Given the description of an element on the screen output the (x, y) to click on. 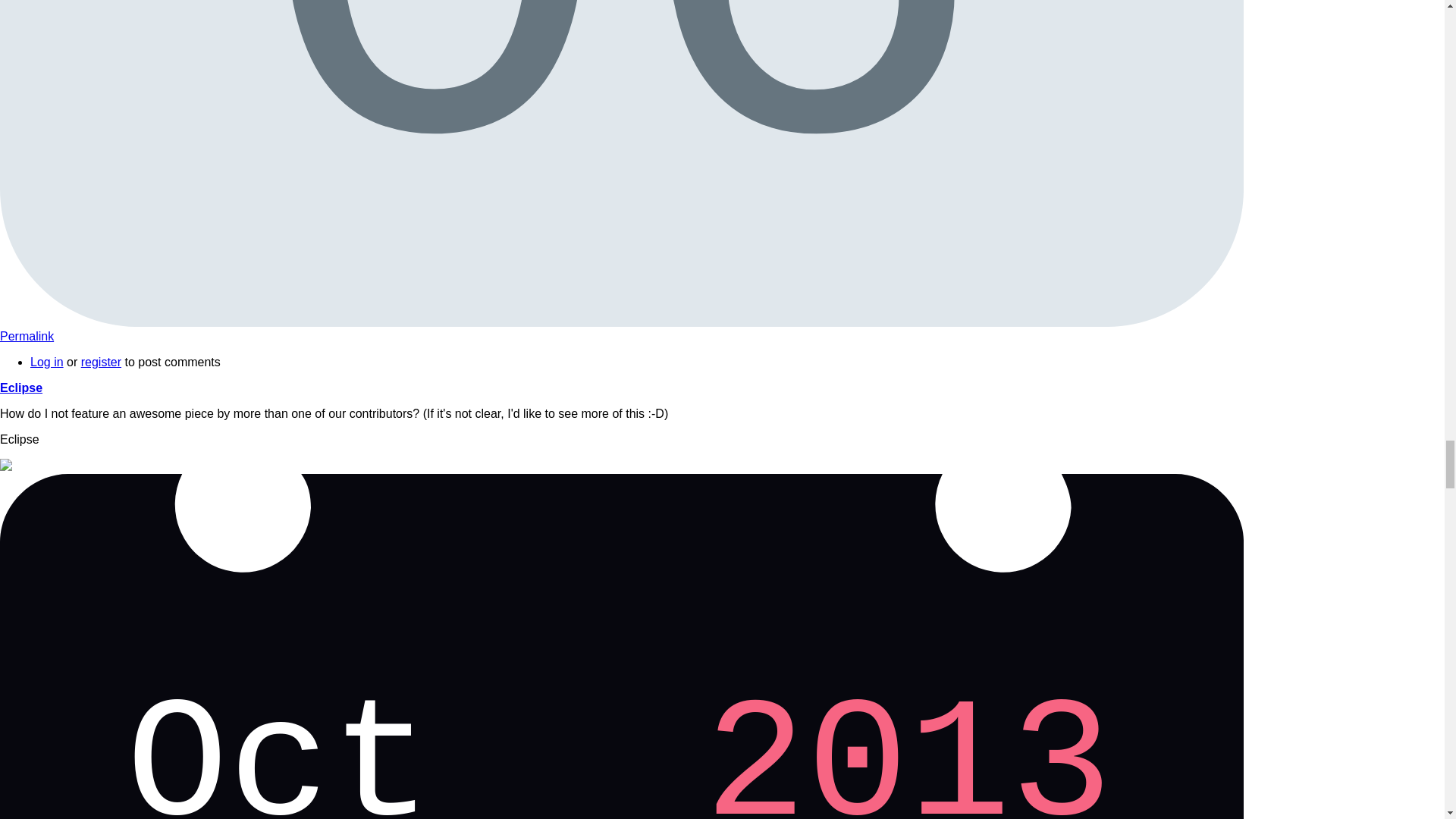
View user profile. (21, 387)
Permalink (47, 361)
register (26, 336)
